Given the description of an element on the screen output the (x, y) to click on. 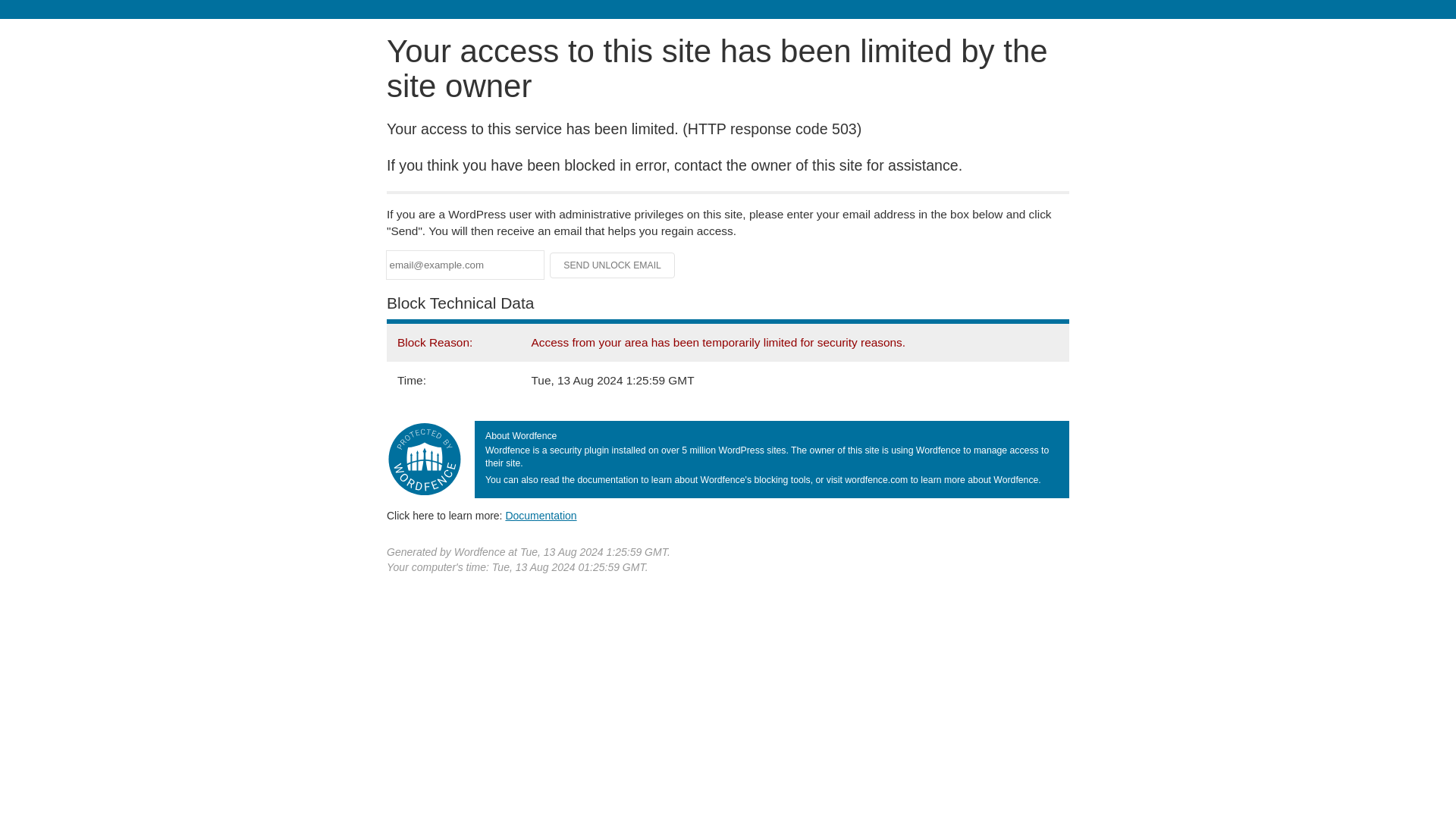
Send Unlock Email (612, 265)
Documentation (540, 515)
Send Unlock Email (612, 265)
